Given the description of an element on the screen output the (x, y) to click on. 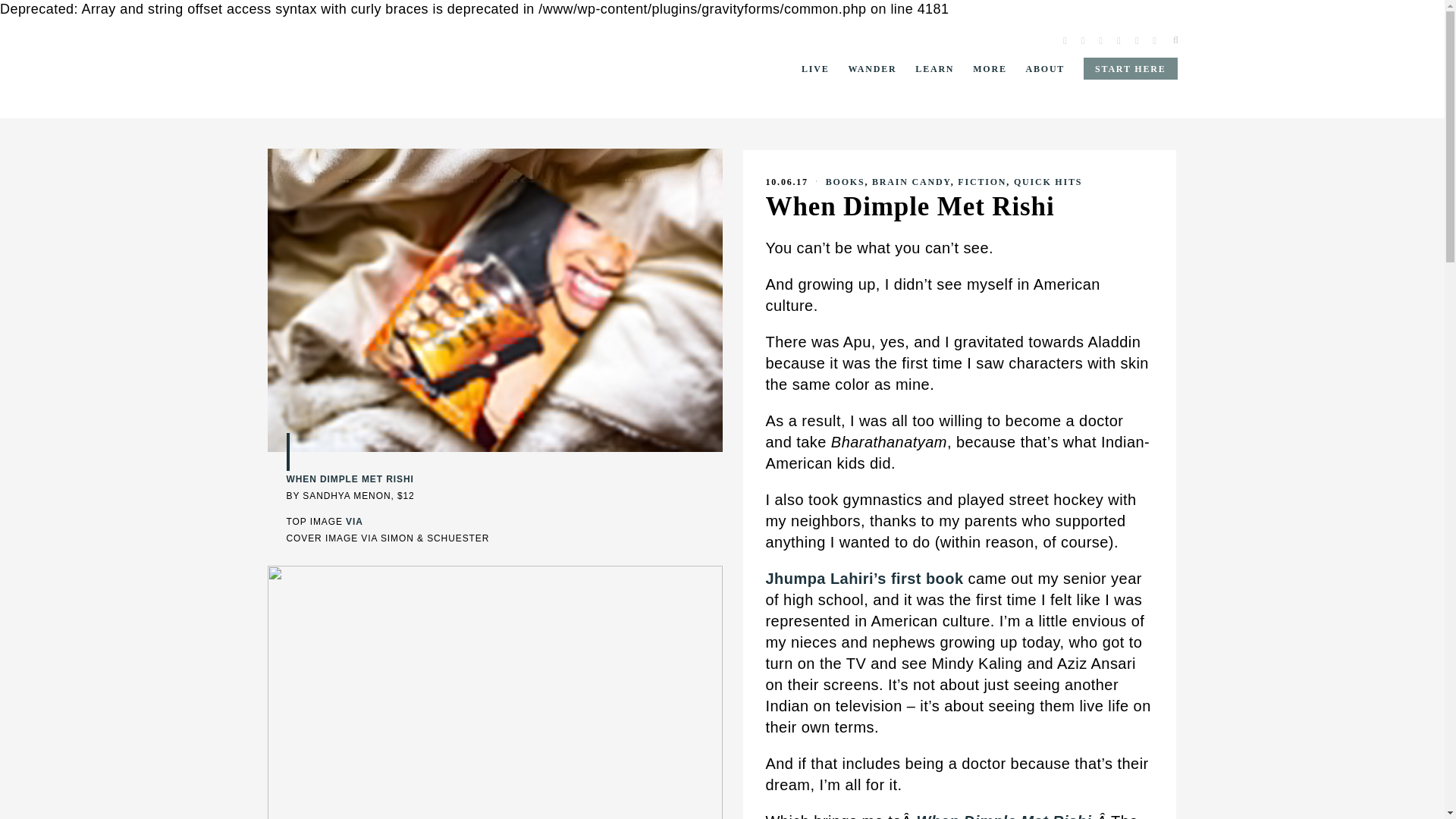
VIA (354, 521)
ABOUT (1044, 68)
WHEN DIMPLE MET RISHI (349, 479)
LIVE (815, 68)
LEARN (934, 68)
BOOKS (844, 181)
START HERE (1130, 68)
MORE (989, 68)
WANDER (871, 68)
